Given the description of an element on the screen output the (x, y) to click on. 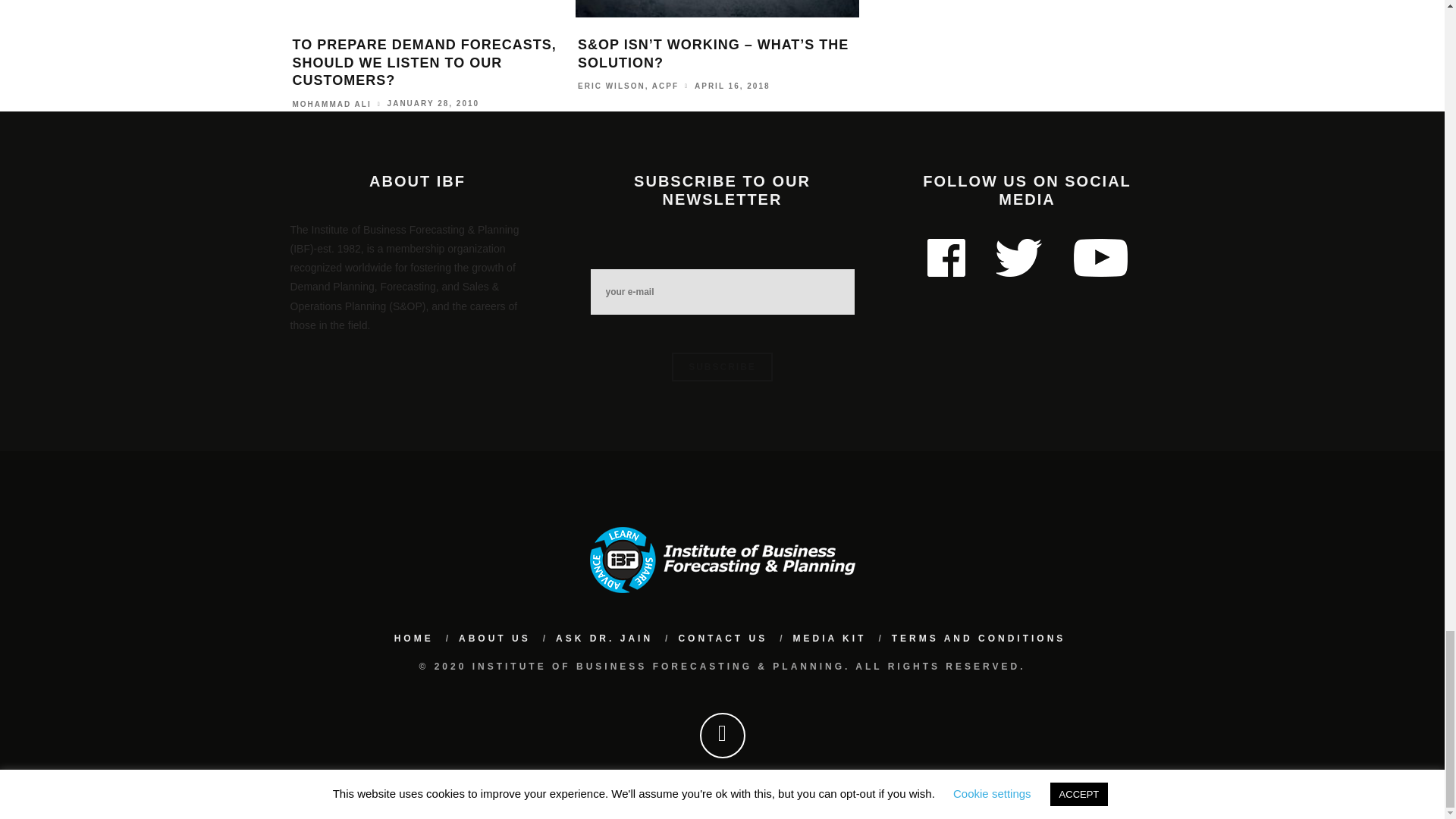
Subscribe (722, 366)
